Given the description of an element on the screen output the (x, y) to click on. 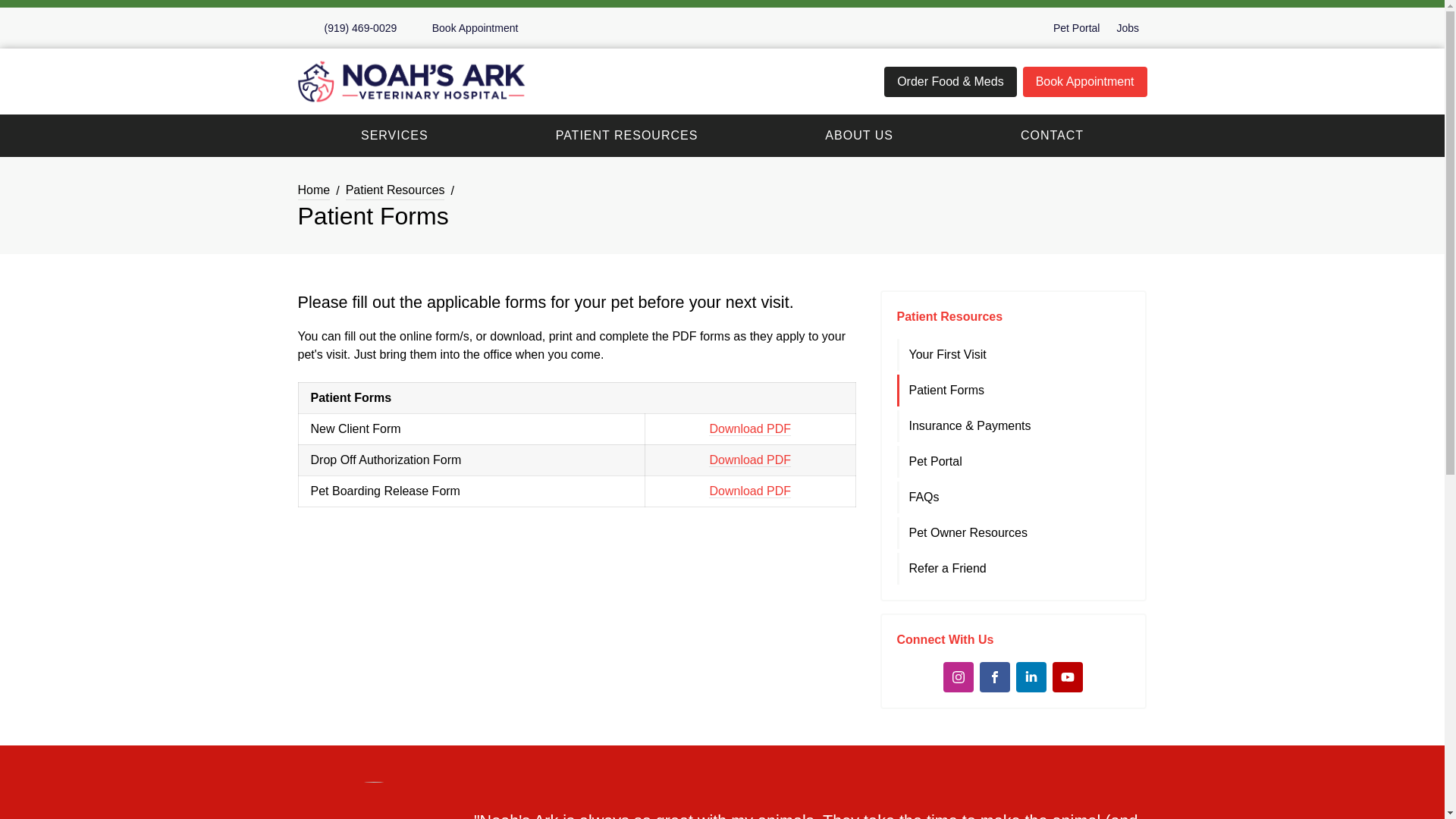
Book Appointment (465, 28)
CONTACT (1051, 135)
Book Appointment (1085, 81)
Jobs (1127, 28)
FAQs (1015, 497)
Patient Resources (949, 316)
Patient Resources (395, 189)
Home (313, 189)
Your First Visit (1015, 355)
Download PDF (749, 459)
